Given the description of an element on the screen output the (x, y) to click on. 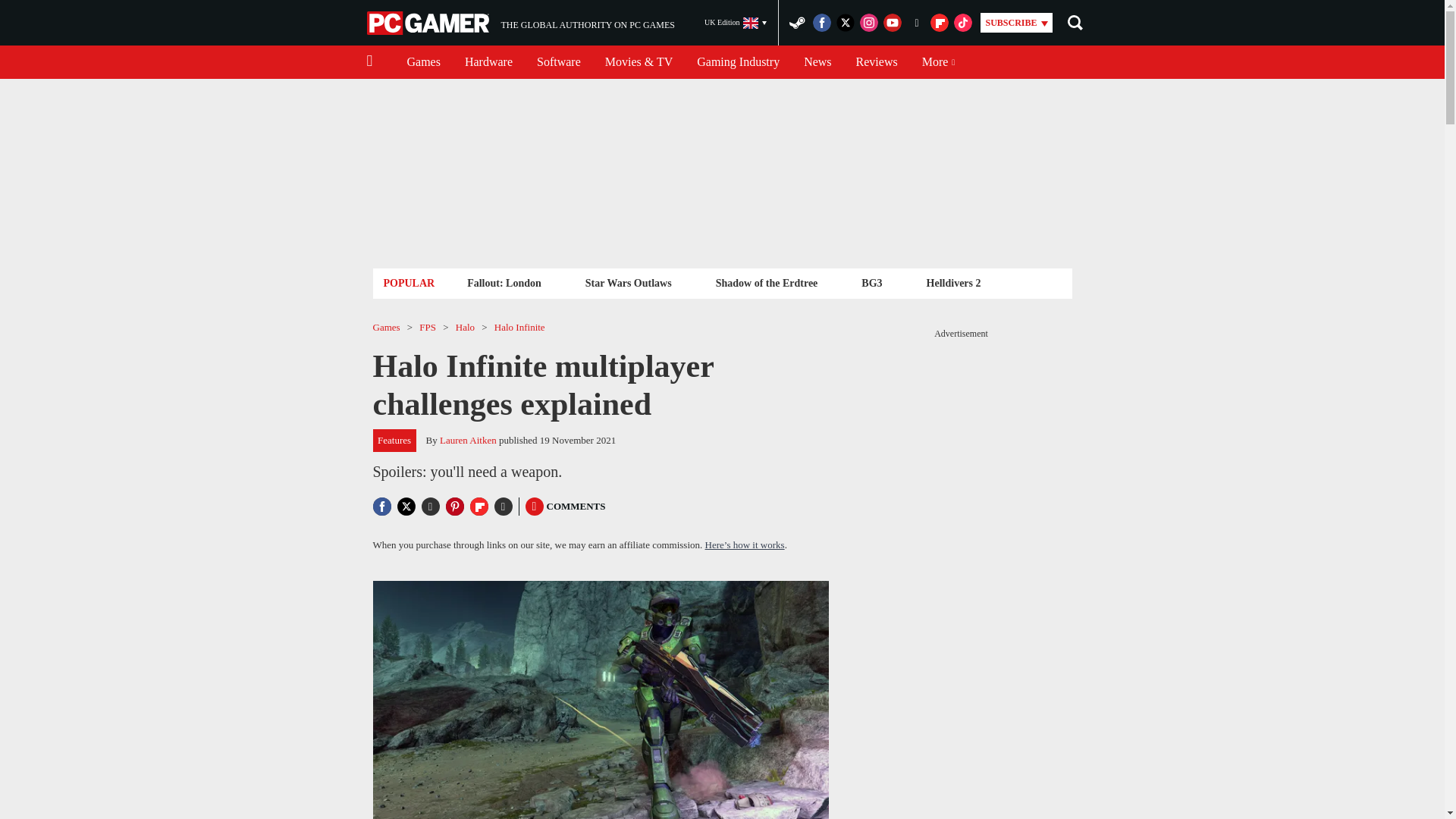
PC Gamer (429, 22)
Games (422, 61)
Reviews (877, 61)
UK Edition (735, 22)
Hardware (488, 61)
Star Wars Outlaws (628, 282)
Gaming Industry (738, 61)
Fallout: London (504, 282)
News (520, 22)
